Given the description of an element on the screen output the (x, y) to click on. 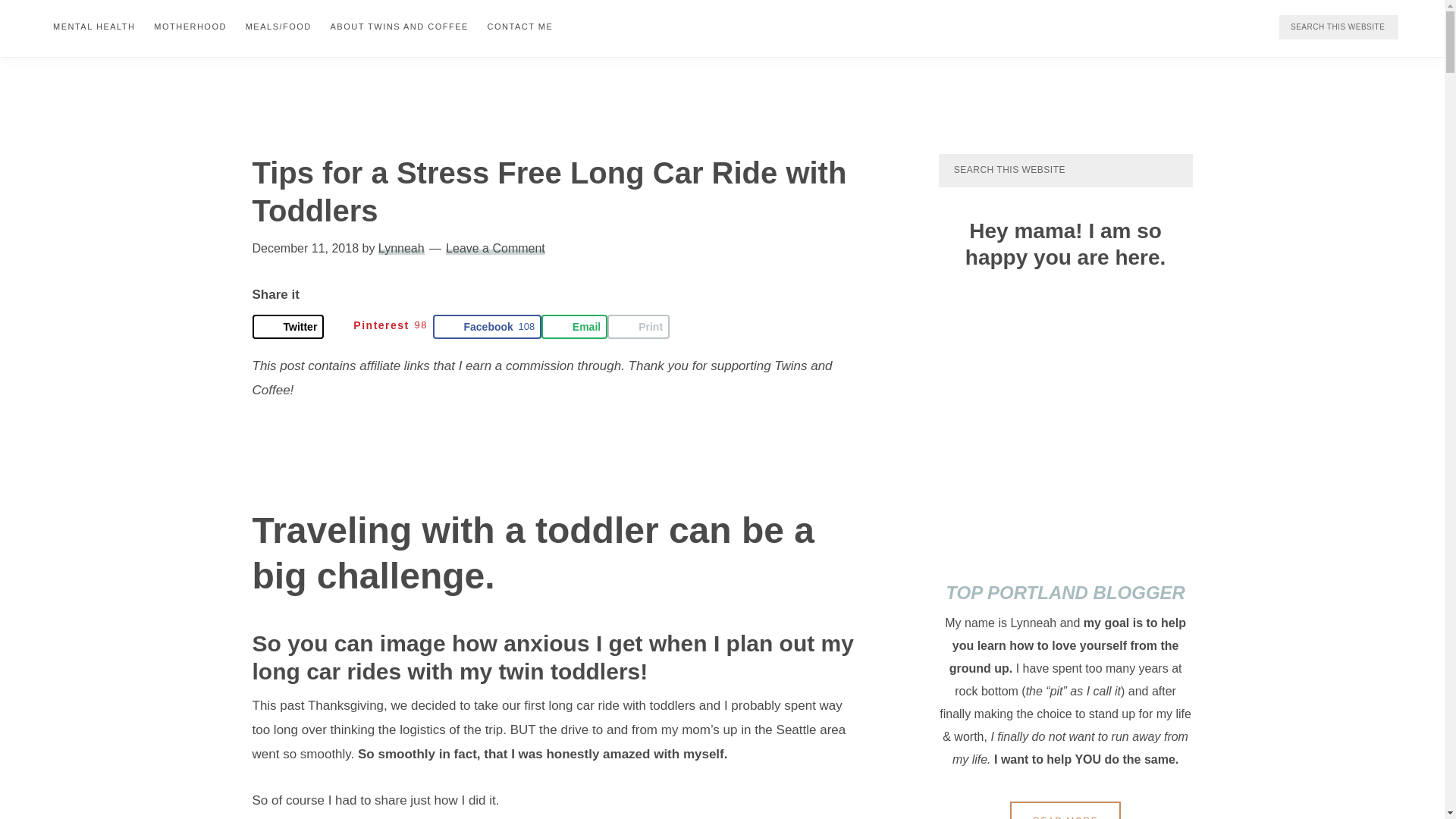
Share on Facebook (486, 326)
Send over email (574, 326)
Leave a Comment (494, 247)
CONTACT ME (520, 26)
Twitter (287, 326)
